Given the description of an element on the screen output the (x, y) to click on. 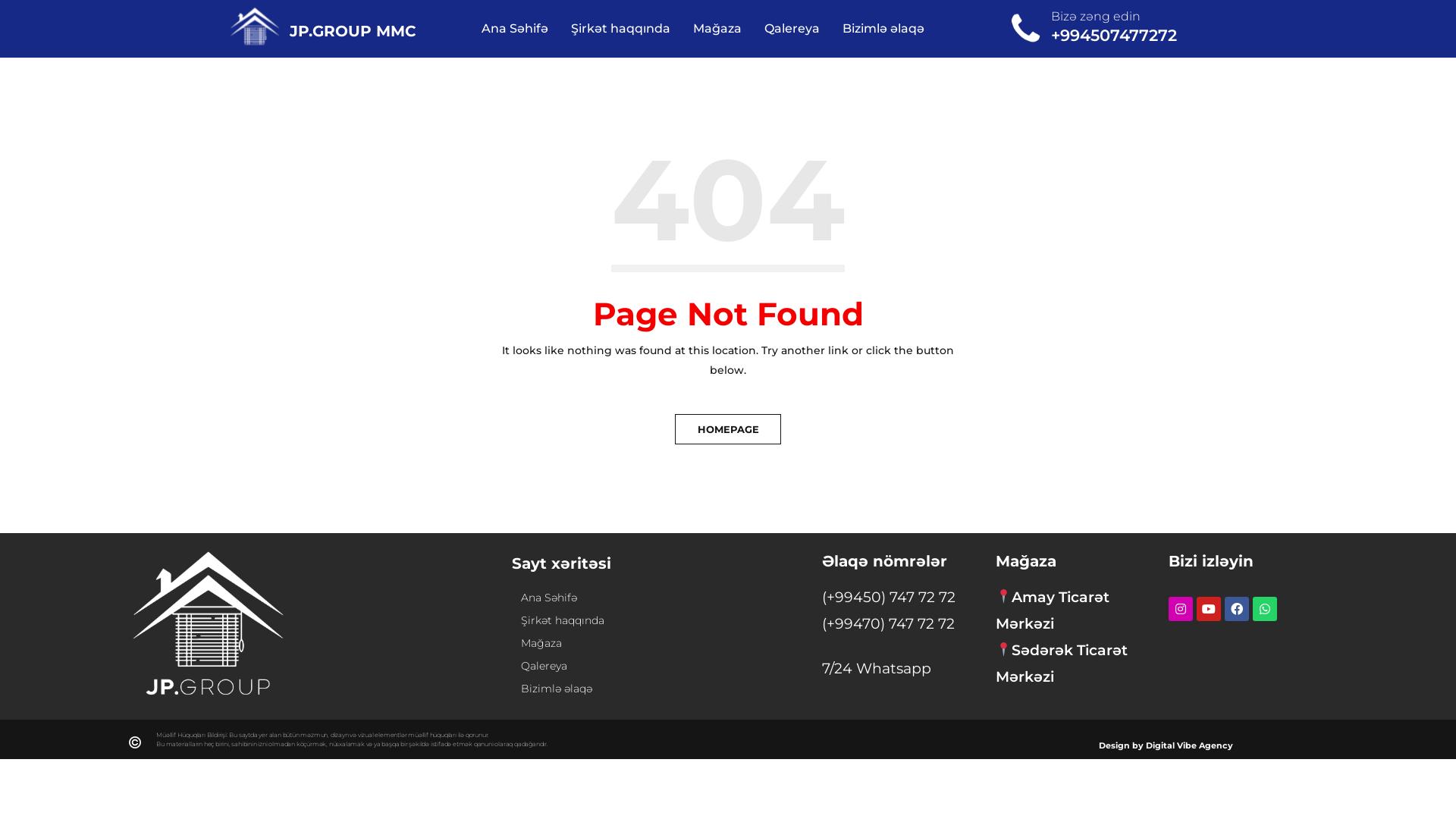
HOMEPAGE Element type: text (727, 429)
Qalereya Element type: text (571, 665)
Qalereya Element type: text (792, 28)
JP.GROUP MMC Element type: text (352, 30)
